Given the description of an element on the screen output the (x, y) to click on. 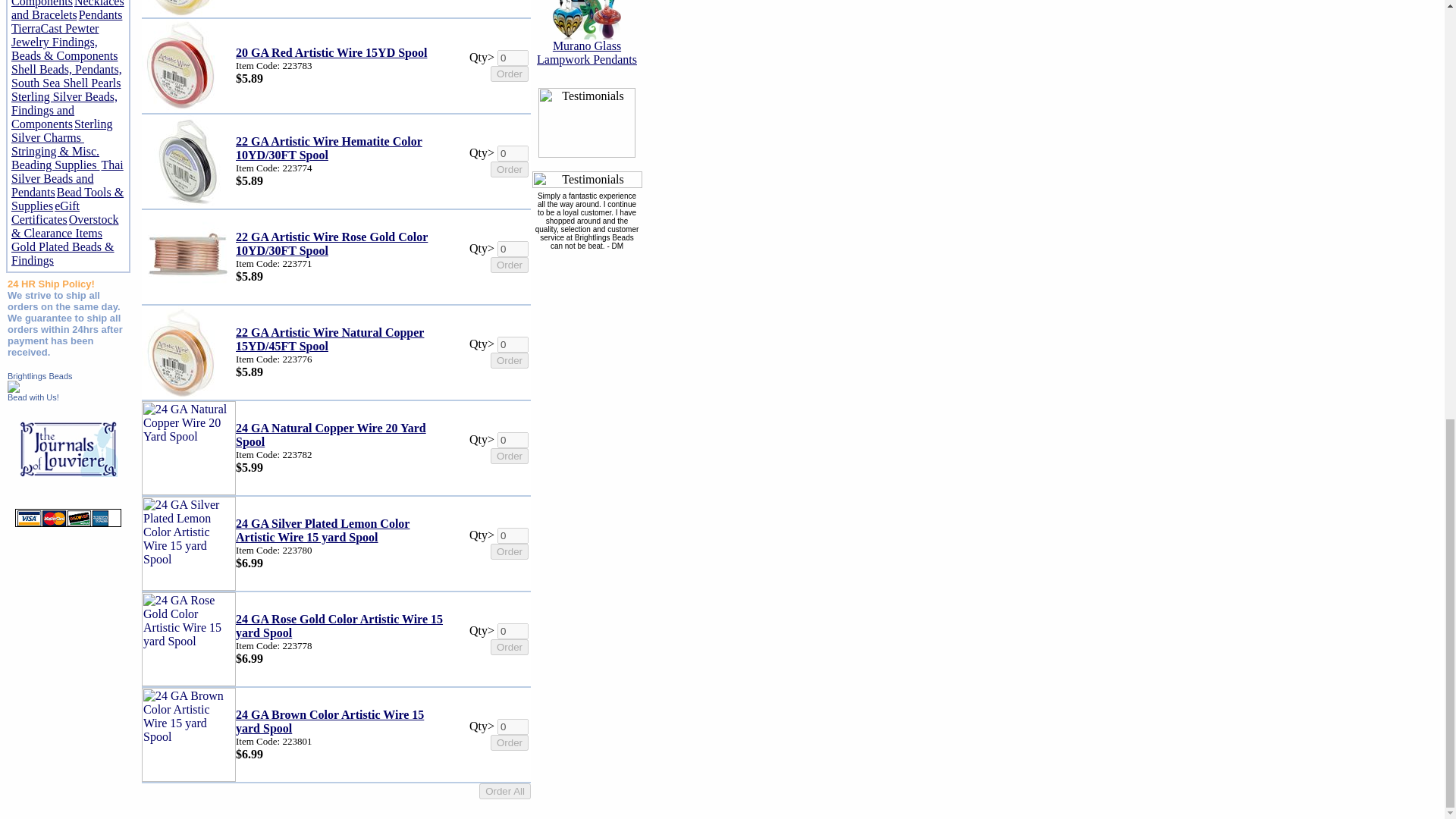
Brightlings Beads (13, 388)
Make your own badge! (33, 397)
0 (512, 153)
Gold Filled Beads, Findings and Components (56, 3)
Brightlings Beads (39, 375)
Necklaces and Bracelets (67, 10)
0 (512, 57)
0 (512, 248)
Pendants (100, 14)
Order (509, 169)
Order (509, 73)
